Given the description of an element on the screen output the (x, y) to click on. 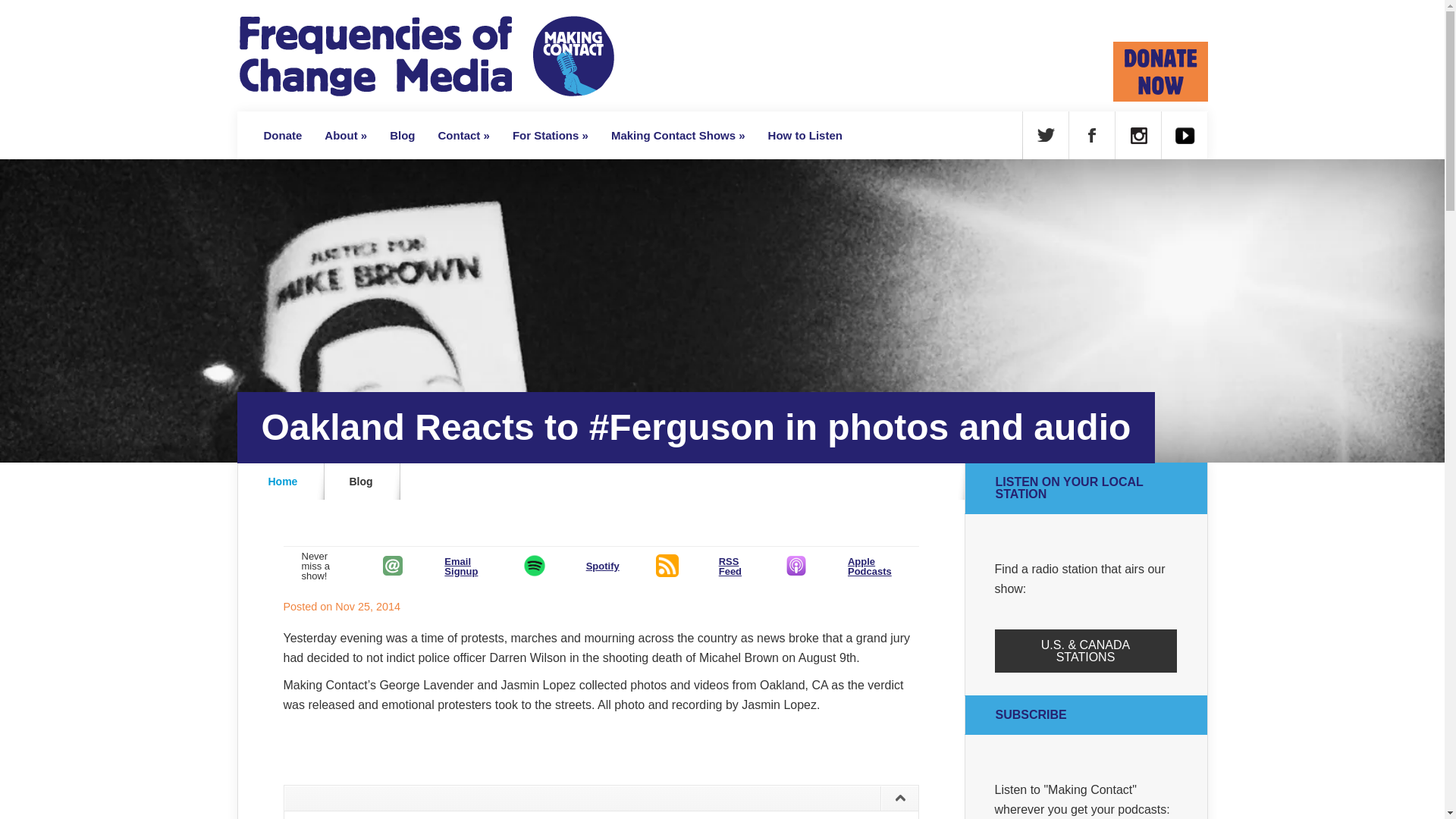
iTunes logo (796, 565)
About (345, 134)
RSS Feed (667, 564)
Donate (282, 134)
Spotify Logo (534, 564)
email signup (392, 565)
